Given the description of an element on the screen output the (x, y) to click on. 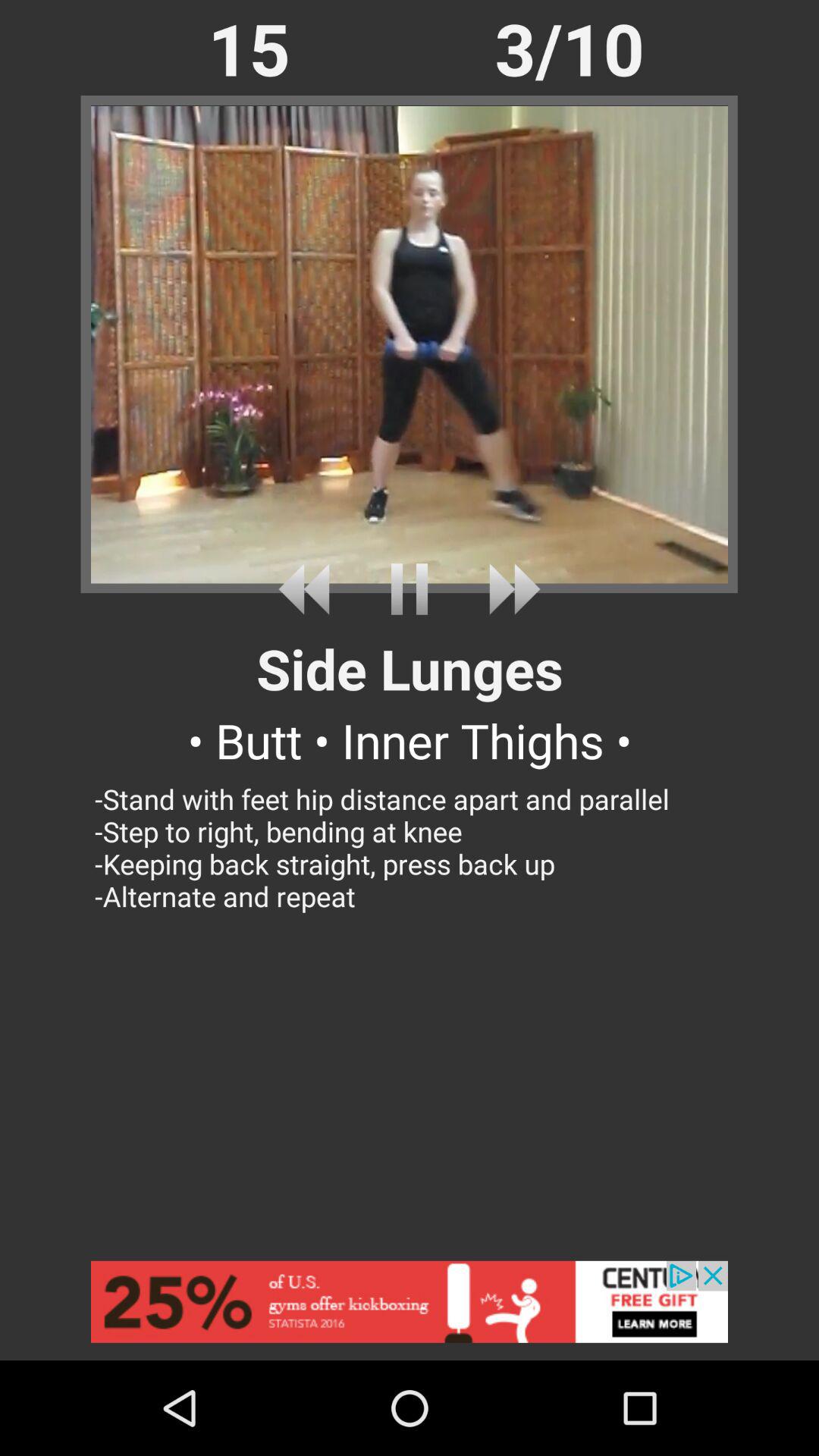
next song (508, 589)
